Given the description of an element on the screen output the (x, y) to click on. 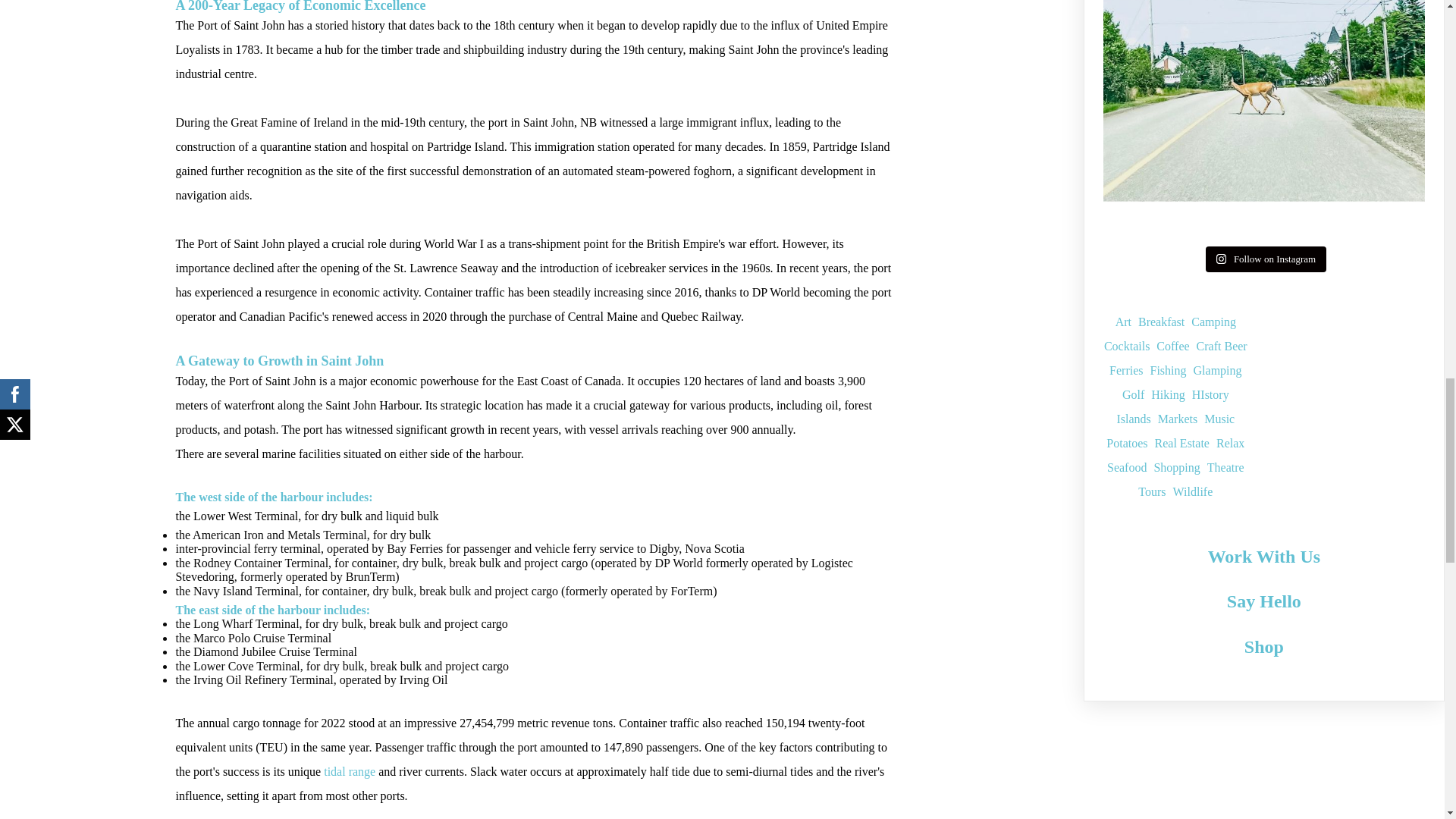
Glamping (1217, 370)
Craft Beer (1221, 346)
Breakfast (1161, 322)
Cocktails (1126, 346)
Music (1219, 419)
Camping (1213, 322)
Markets (1176, 419)
Coffee (1172, 346)
Ferries (1125, 370)
HIstory (1210, 395)
Fishing (1168, 370)
Islands (1133, 419)
Follow on Instagram (1265, 258)
Hiking (1168, 395)
Art (1123, 322)
